Given the description of an element on the screen output the (x, y) to click on. 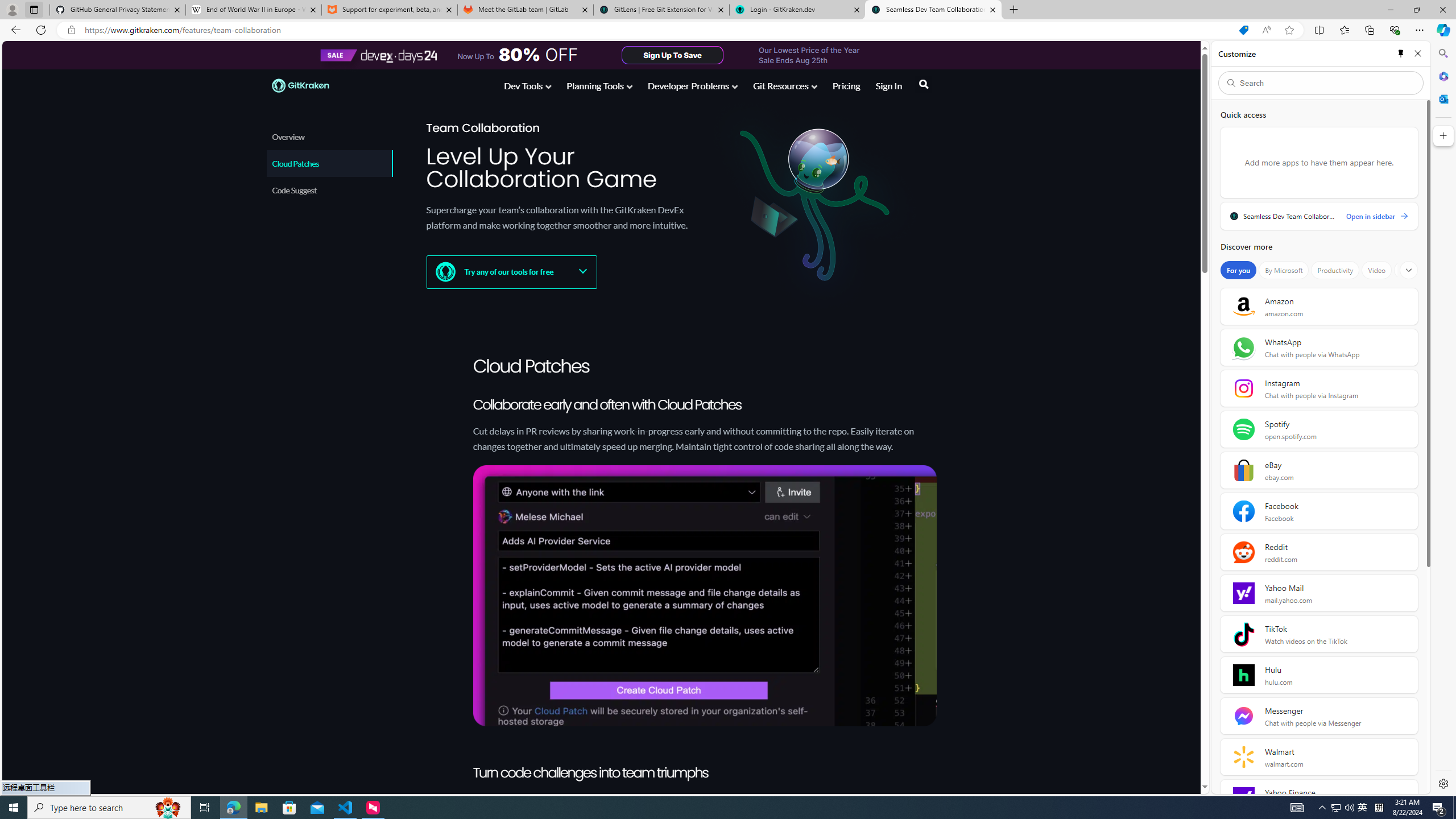
Show more (1408, 270)
For you (1238, 270)
Code Suggest (329, 189)
